Given the description of an element on the screen output the (x, y) to click on. 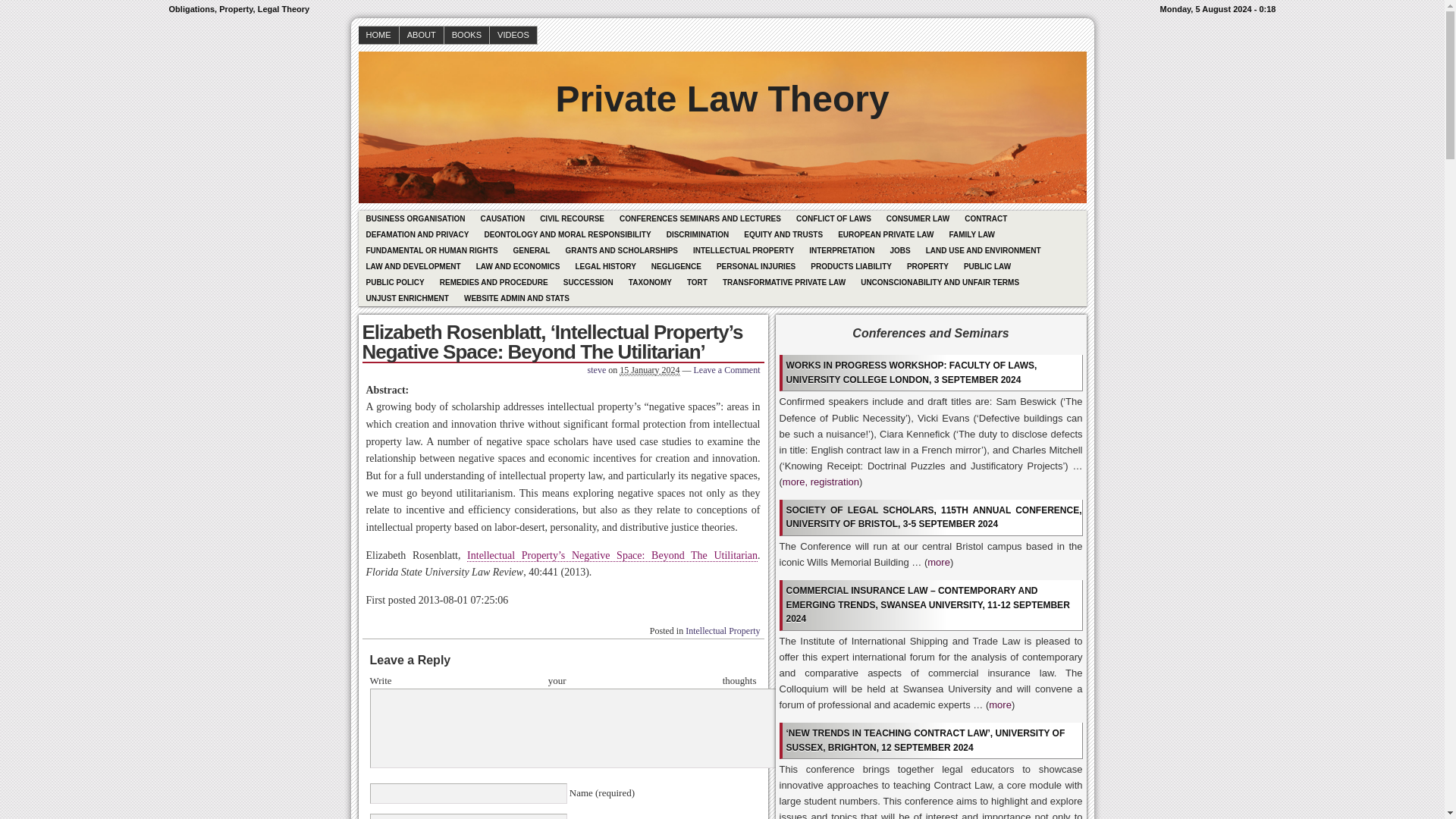
Private Law Theory (721, 88)
CONSUMER LAW (917, 218)
site information (721, 9)
NEGLIGENCE (676, 266)
BUSINESS ORGANISATION (414, 218)
PRODUCTS LIABILITY (851, 266)
Obligations, Property, Legal Theory (721, 88)
15 January 2024 - 09:48 (649, 369)
PERSONAL INJURIES (756, 266)
PROPERTY (927, 266)
INTELLECTUAL PROPERTY (743, 250)
VIDEOS (513, 34)
PUBLIC LAW (986, 266)
EUROPEAN PRIVATE LAW (884, 234)
CIVIL RECOURSE (571, 218)
